Given the description of an element on the screen output the (x, y) to click on. 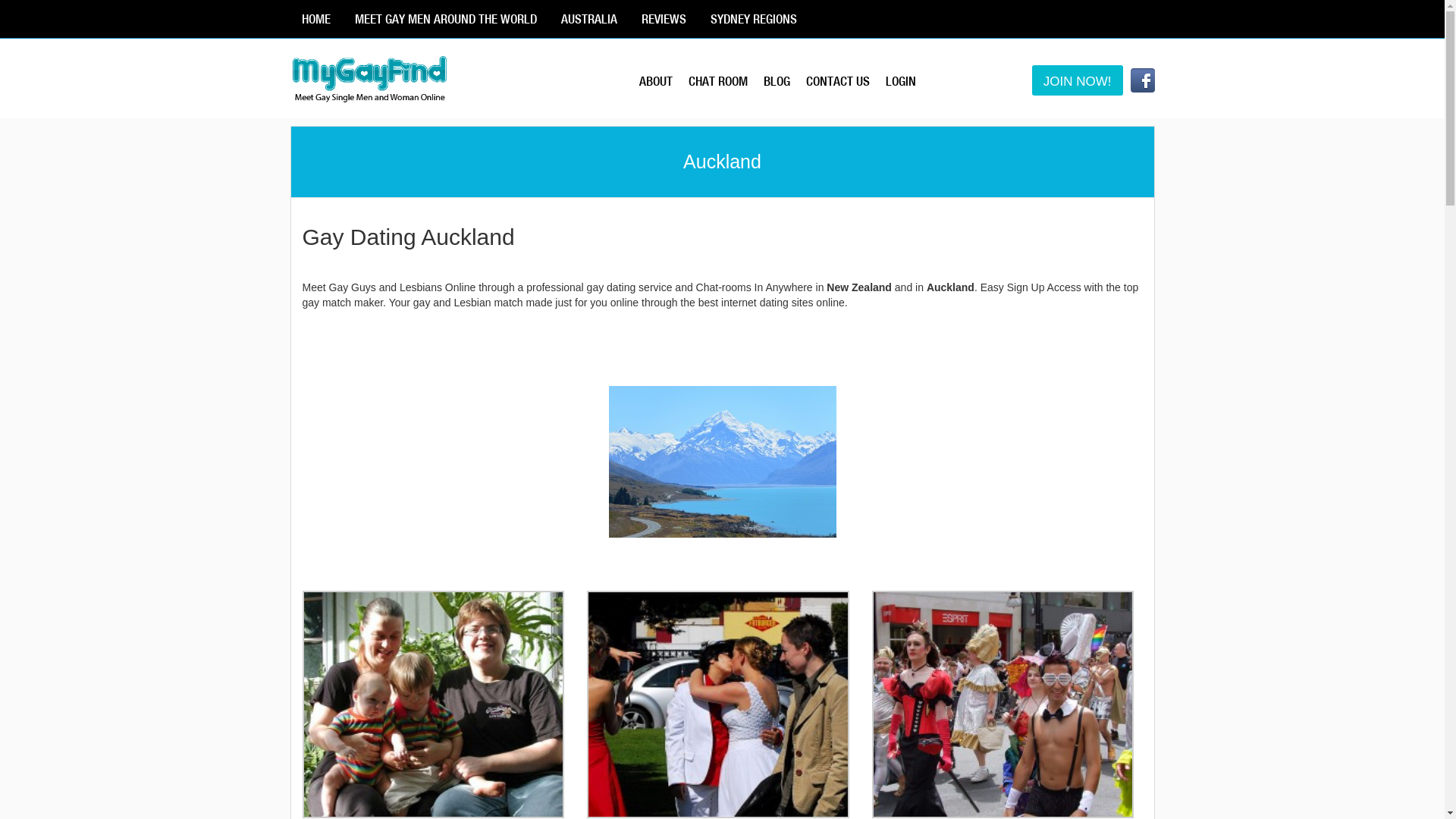
HOME Element type: text (315, 18)
Connect with Facebook Element type: hover (1141, 80)
CONTACT US Element type: text (845, 80)
REVIEWS Element type: text (662, 18)
JOIN NOW! Element type: text (1077, 80)
MEET GAY MEN AROUND THE WORLD Element type: text (444, 18)
BLOG Element type: text (784, 80)
SYDNEY REGIONS Element type: text (753, 18)
CHAT ROOM Element type: text (725, 80)
LOGIN Element type: text (908, 80)
AUSTRALIA Element type: text (588, 18)
ABOUT Element type: text (663, 80)
